Given the description of an element on the screen output the (x, y) to click on. 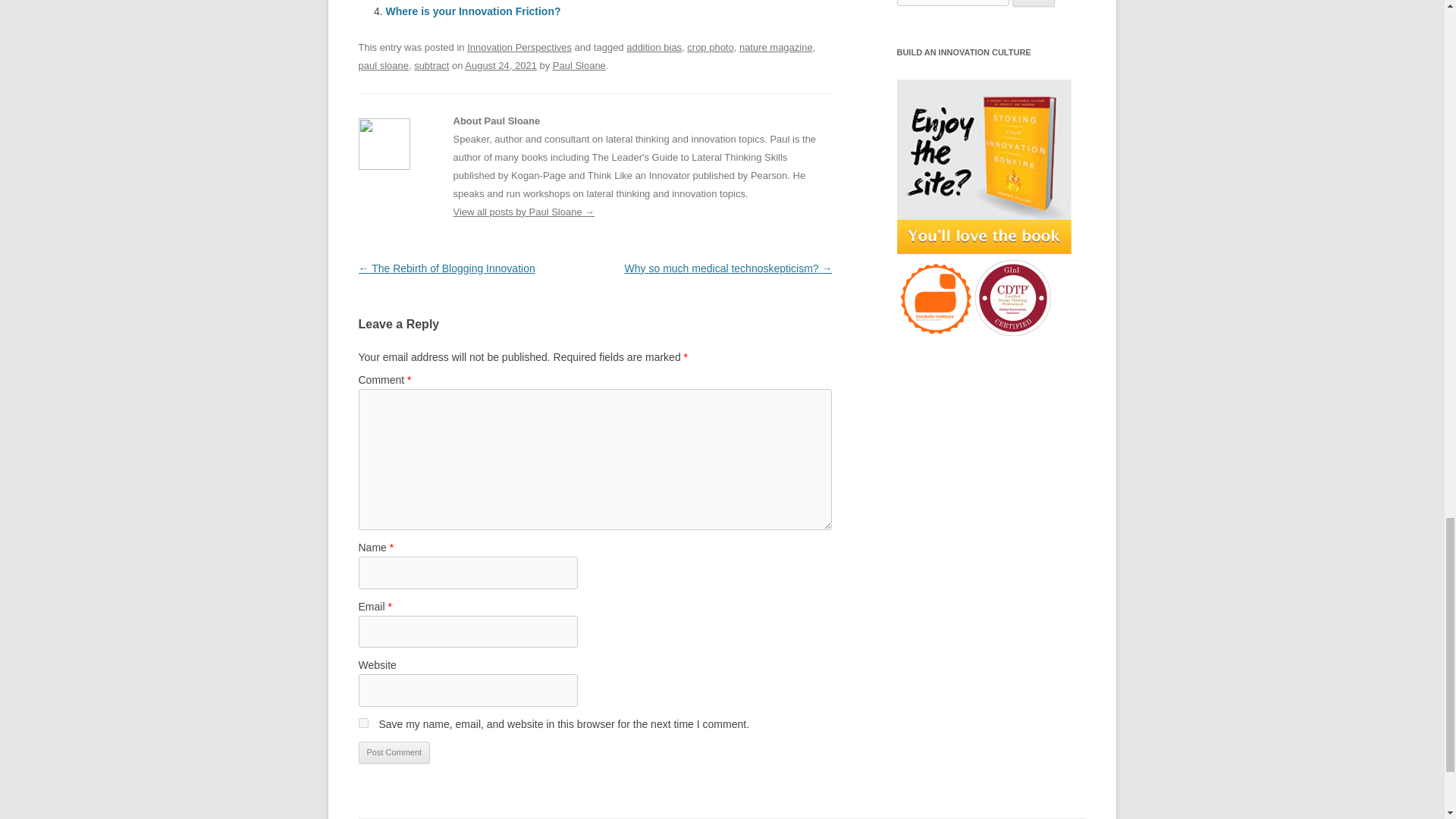
yes (363, 723)
Post Comment (393, 753)
Get your copy of 'Stoking Your Innovation Bonfire' (983, 166)
Where is your Innovation Friction? (472, 10)
Search (1033, 3)
View all posts by Paul Sloane (579, 65)
8:00 am (500, 65)
